Given the description of an element on the screen output the (x, y) to click on. 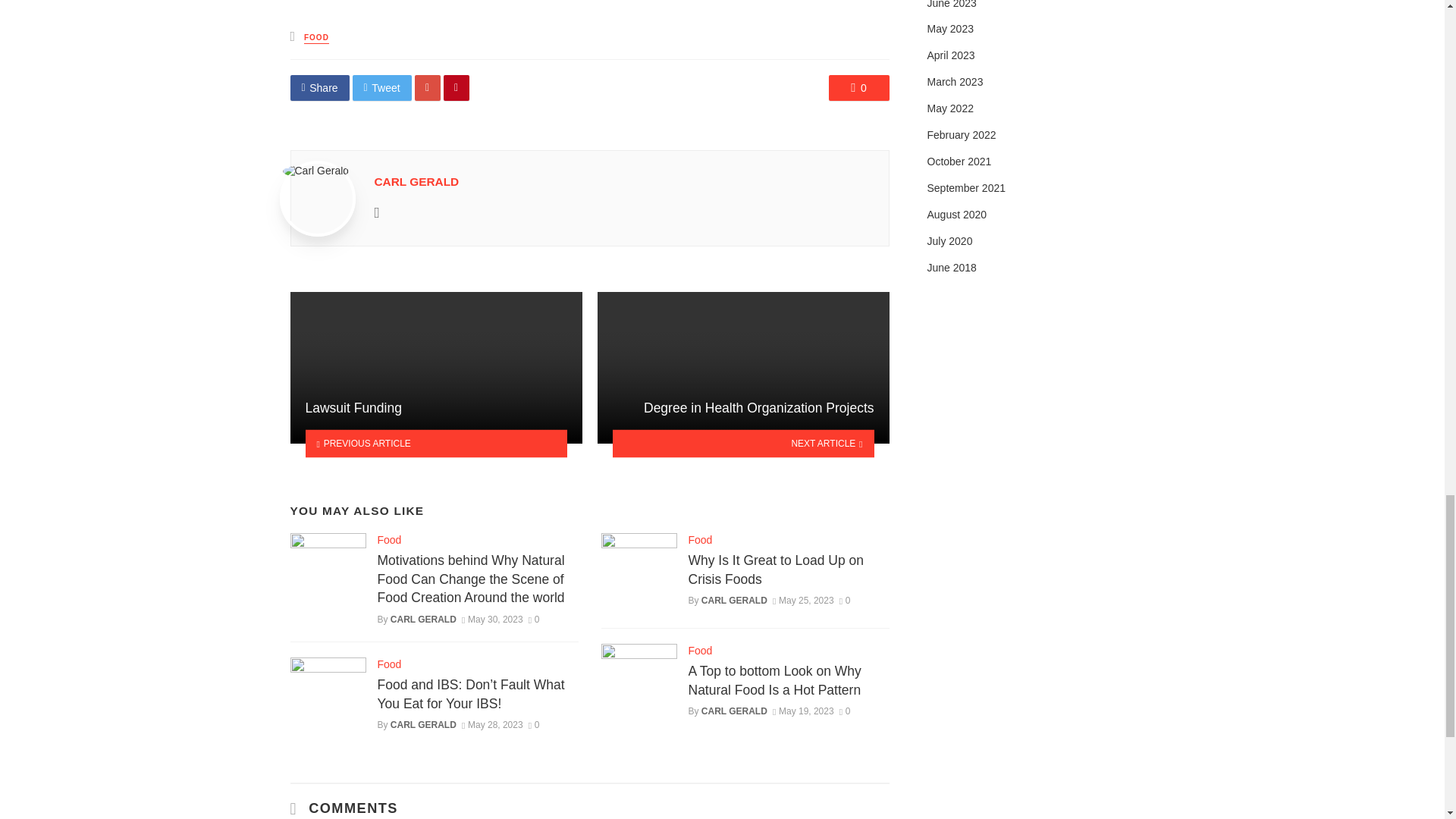
Posts by Carl Gerald (417, 181)
0 (858, 87)
CARL GERALD (417, 181)
NEXT ARTICLE (742, 443)
FOOD (316, 38)
0 Comments (858, 87)
Share (319, 87)
PREVIOUS ARTICLE (434, 443)
Share on Pinterest (456, 87)
Share on Twitter (382, 87)
Tweet (382, 87)
Share on Facebook (319, 87)
May 30, 2023 at 8:28 am (491, 619)
